Given the description of an element on the screen output the (x, y) to click on. 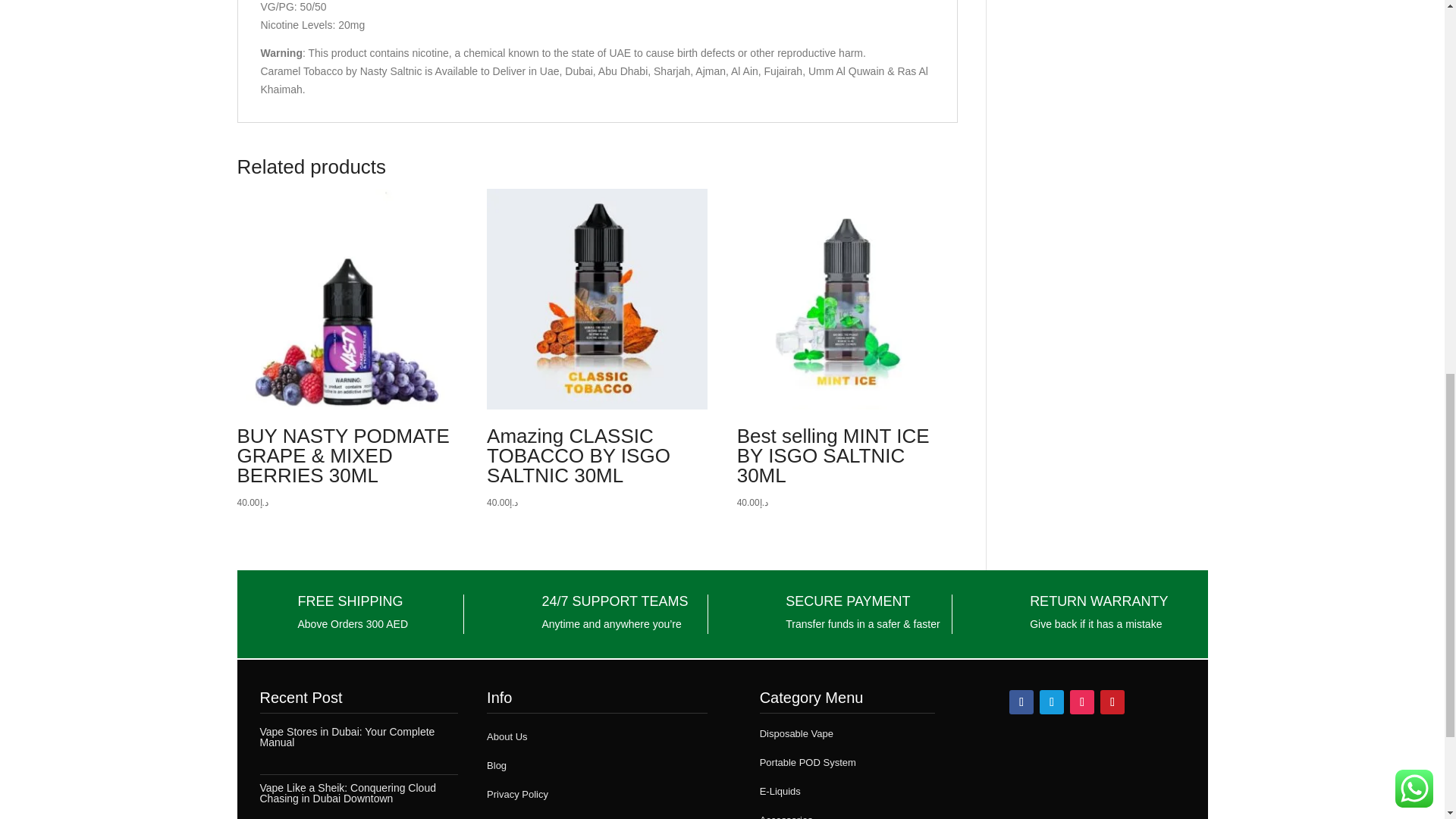
Follow on Facebook (1021, 702)
Follow on Instagram (1082, 702)
Follow on Pinterest (1112, 702)
Follow on Telegram (1051, 702)
